Given the description of an element on the screen output the (x, y) to click on. 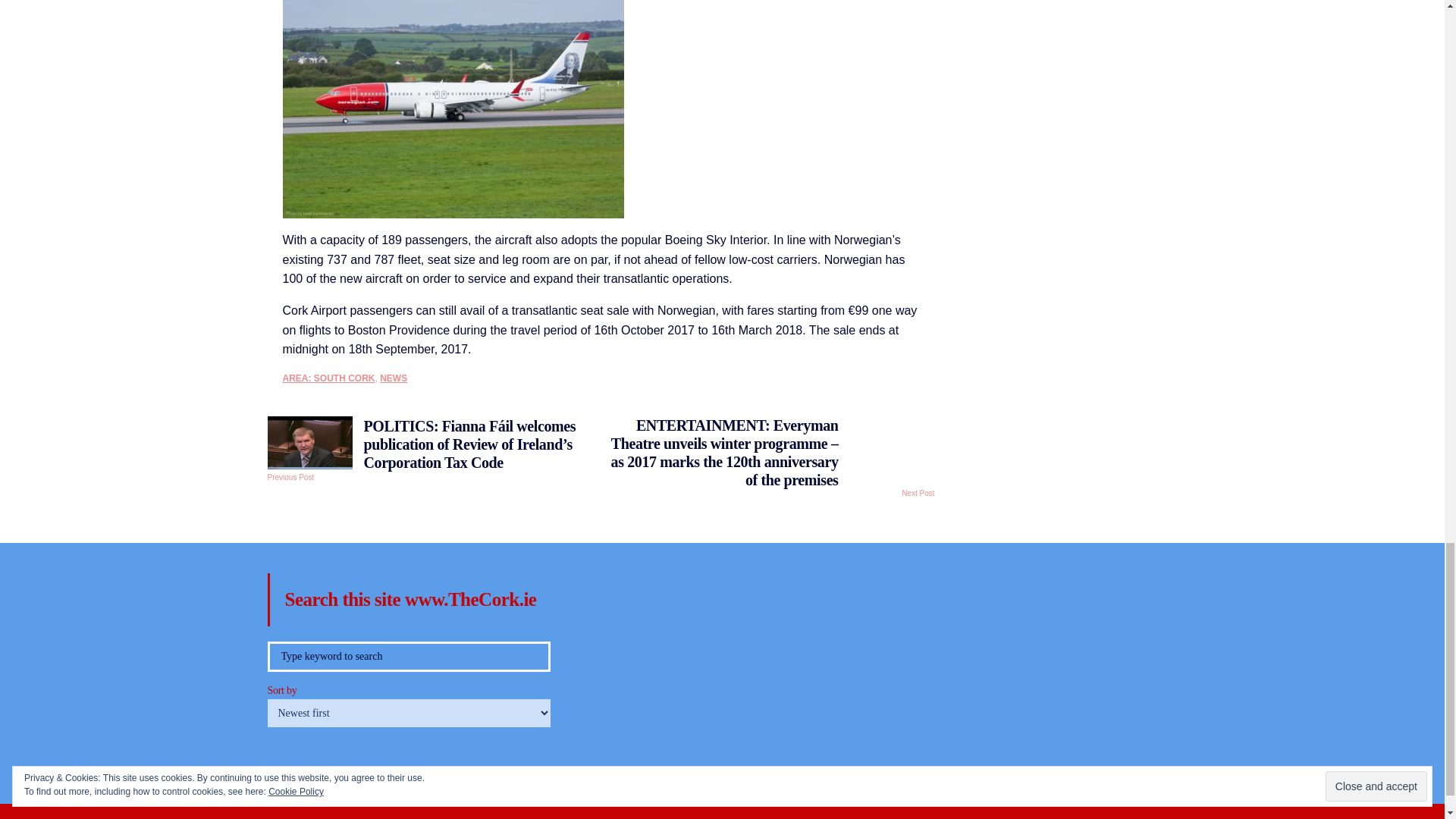
Type keyword to search (408, 656)
Type keyword to search (408, 656)
